Given the description of an element on the screen output the (x, y) to click on. 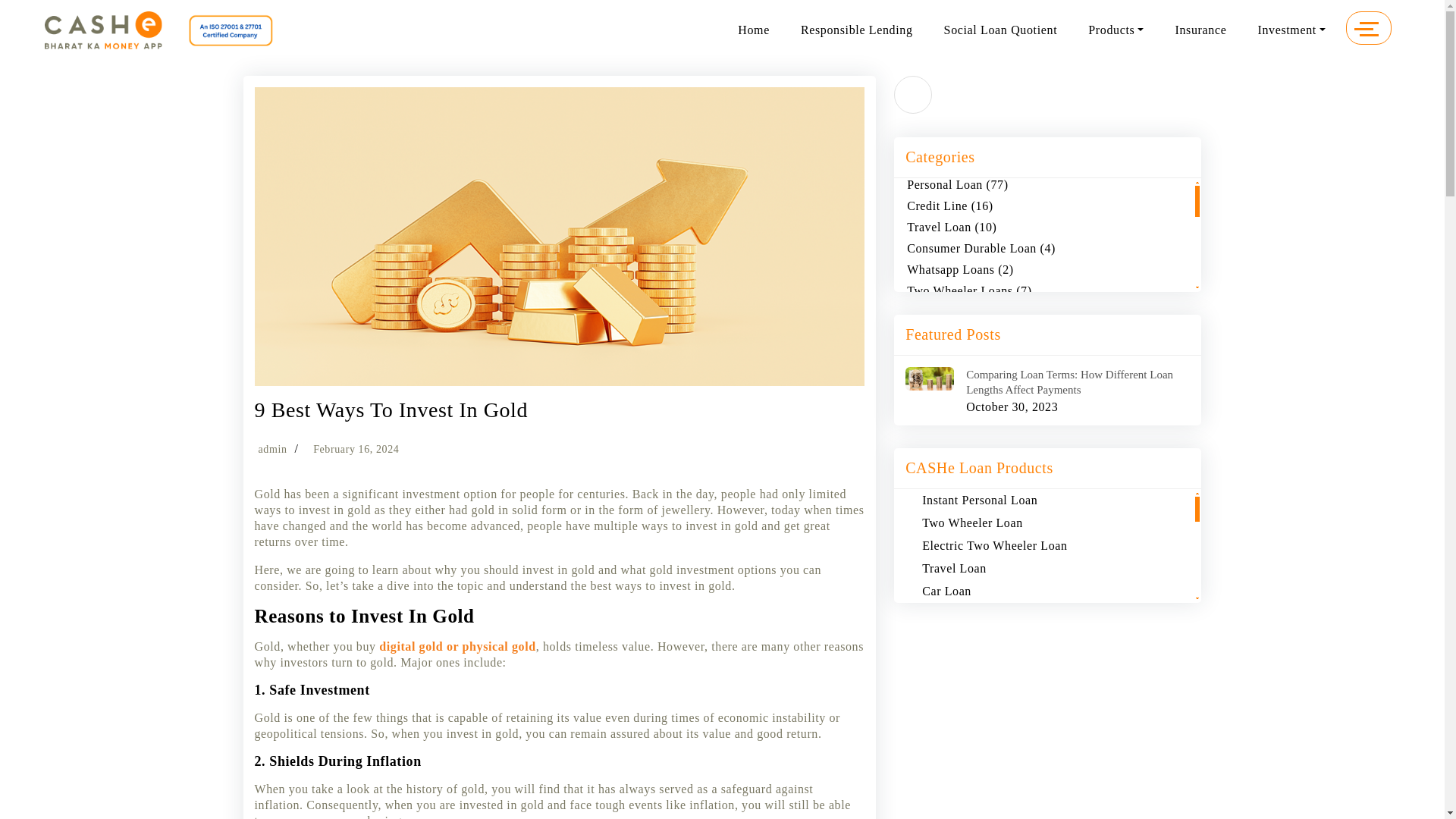
Insurance (1200, 30)
Products (1115, 30)
Home (754, 30)
Responsible Lending (856, 30)
Social Loan Quotient (1000, 30)
Investment (1291, 30)
